Given the description of an element on the screen output the (x, y) to click on. 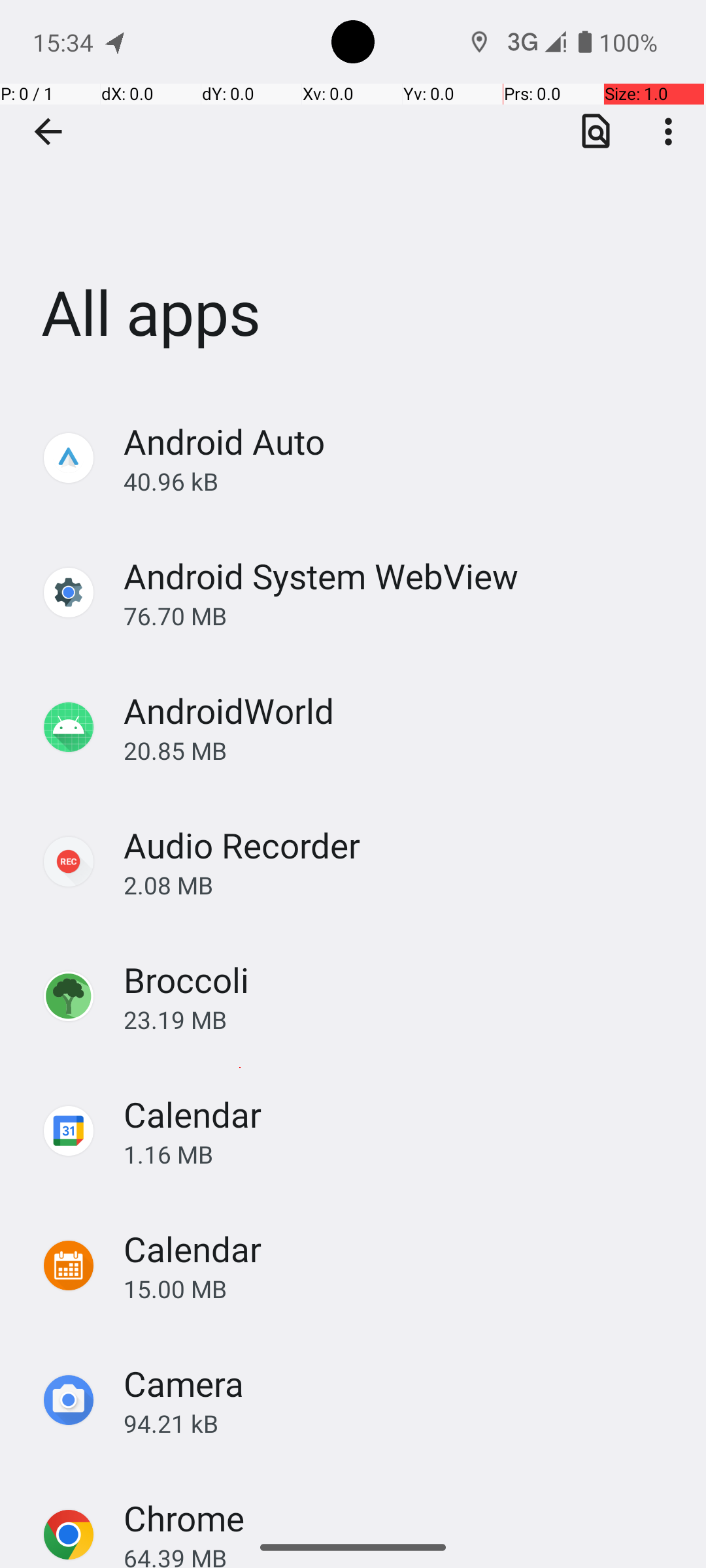
All apps Element type: android.widget.FrameLayout (353, 195)
Android Auto Element type: android.widget.TextView (223, 441)
40.96 kB Element type: android.widget.TextView (400, 480)
Android System WebView Element type: android.widget.TextView (320, 575)
76.70 MB Element type: android.widget.TextView (400, 615)
AndroidWorld Element type: android.widget.TextView (228, 710)
20.85 MB Element type: android.widget.TextView (400, 750)
2.08 MB Element type: android.widget.TextView (400, 884)
23.19 MB Element type: android.widget.TextView (400, 1019)
1.16 MB Element type: android.widget.TextView (400, 1153)
15.00 MB Element type: android.widget.TextView (400, 1288)
Camera Element type: android.widget.TextView (183, 1383)
94.21 kB Element type: android.widget.TextView (400, 1422)
